Given the description of an element on the screen output the (x, y) to click on. 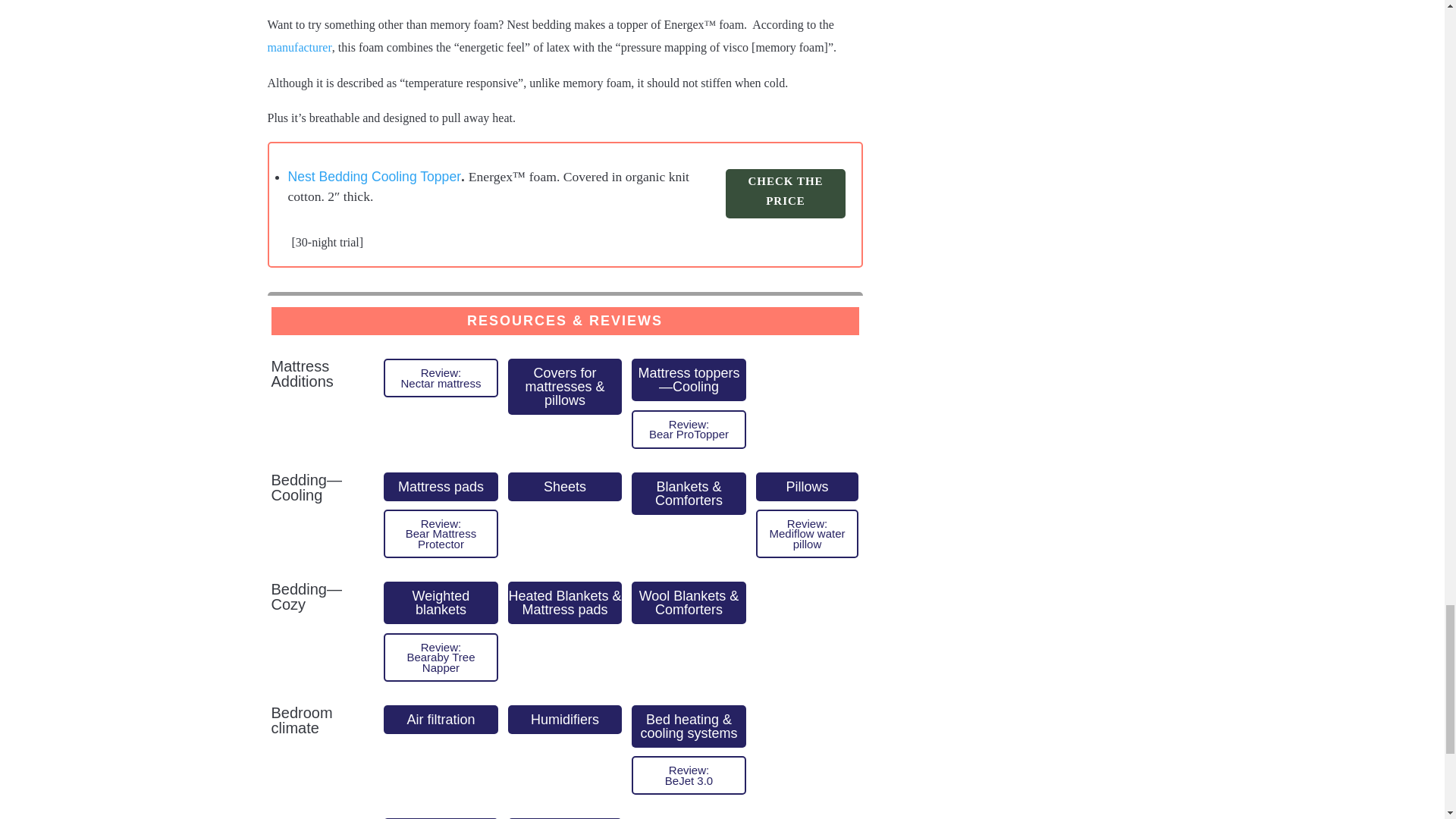
CHECK THE PRICE (785, 193)
manufacturer (298, 50)
Nest Bedding Cooling Topper (374, 179)
